Given the description of an element on the screen output the (x, y) to click on. 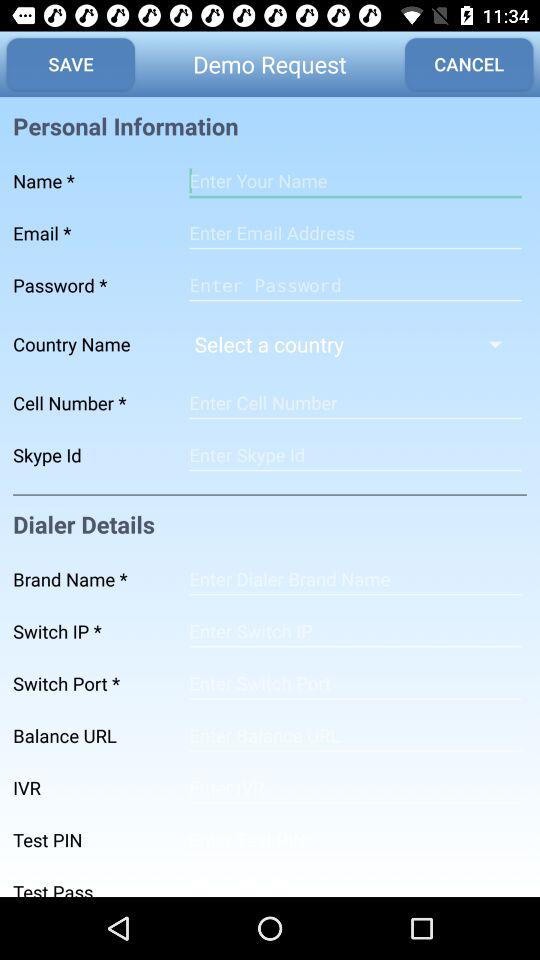
write switch port (355, 683)
